Given the description of an element on the screen output the (x, y) to click on. 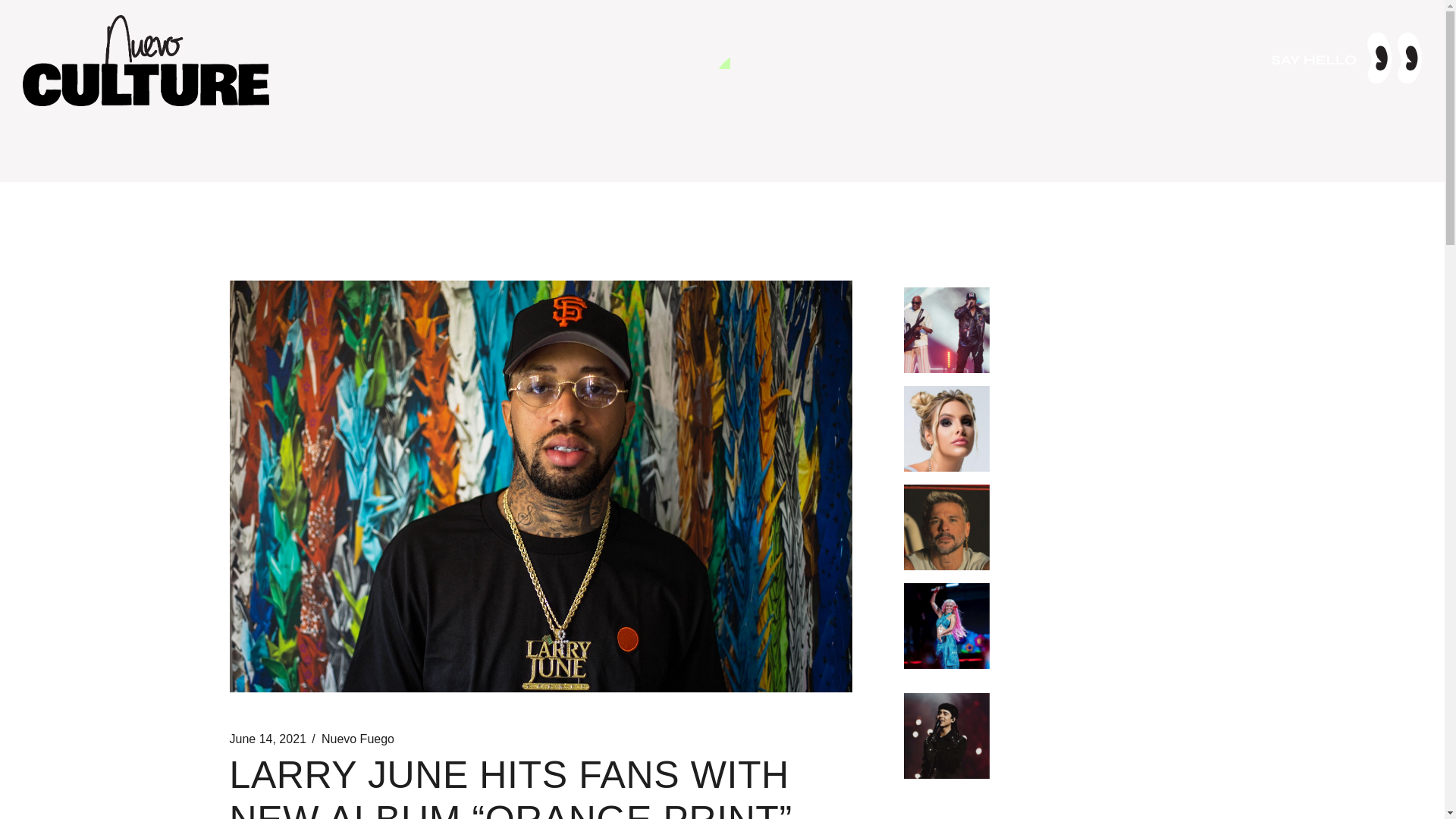
Nuevo Fuego (357, 739)
June 14, 2021 (266, 739)
